Given the description of an element on the screen output the (x, y) to click on. 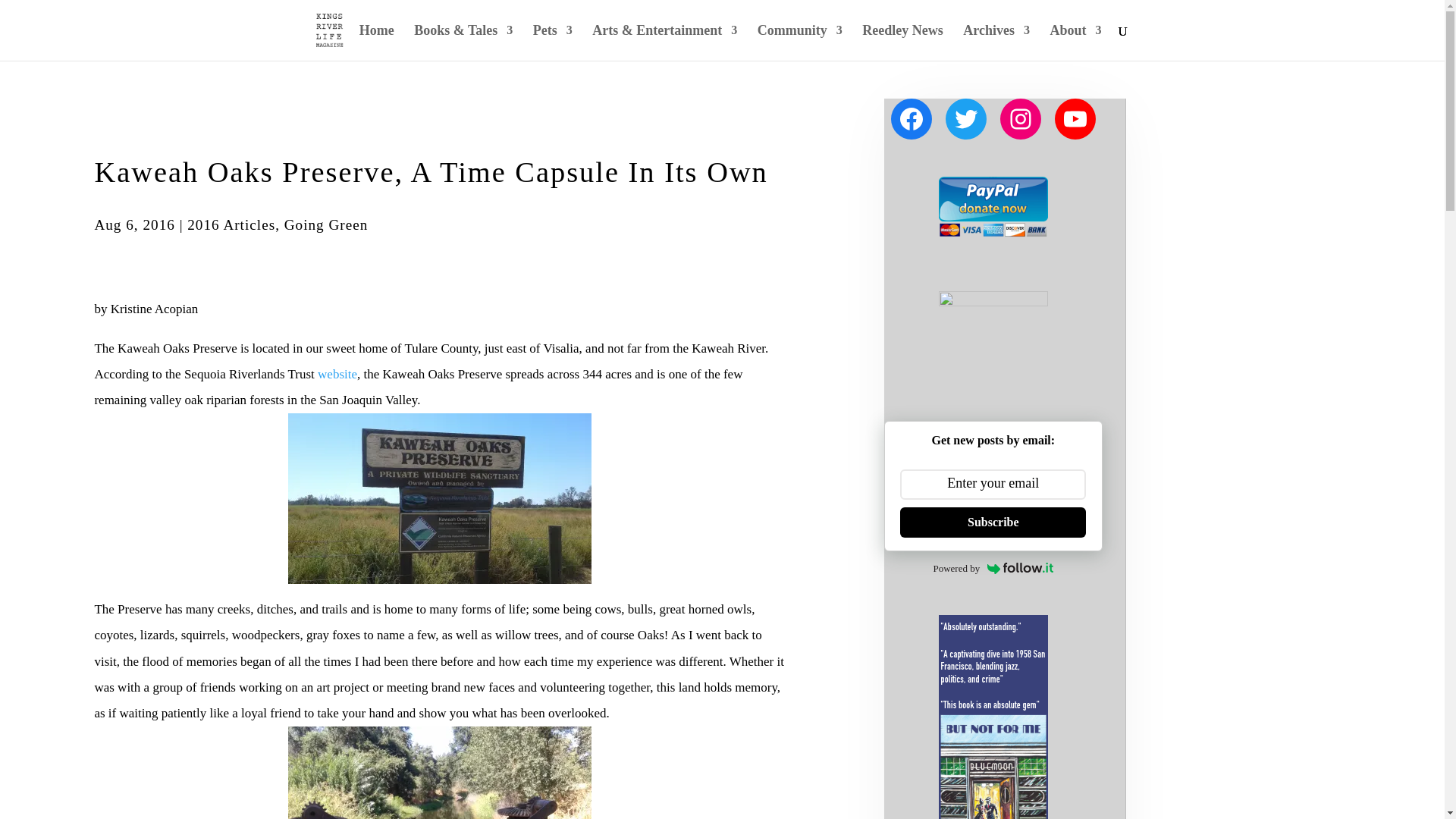
Pets (552, 42)
Reedley News (901, 42)
Home (376, 42)
Photo by Kristine Acopian (439, 498)
Community (800, 42)
Archives (995, 42)
Photo by Kristine Acopian (439, 772)
